Given the description of an element on the screen output the (x, y) to click on. 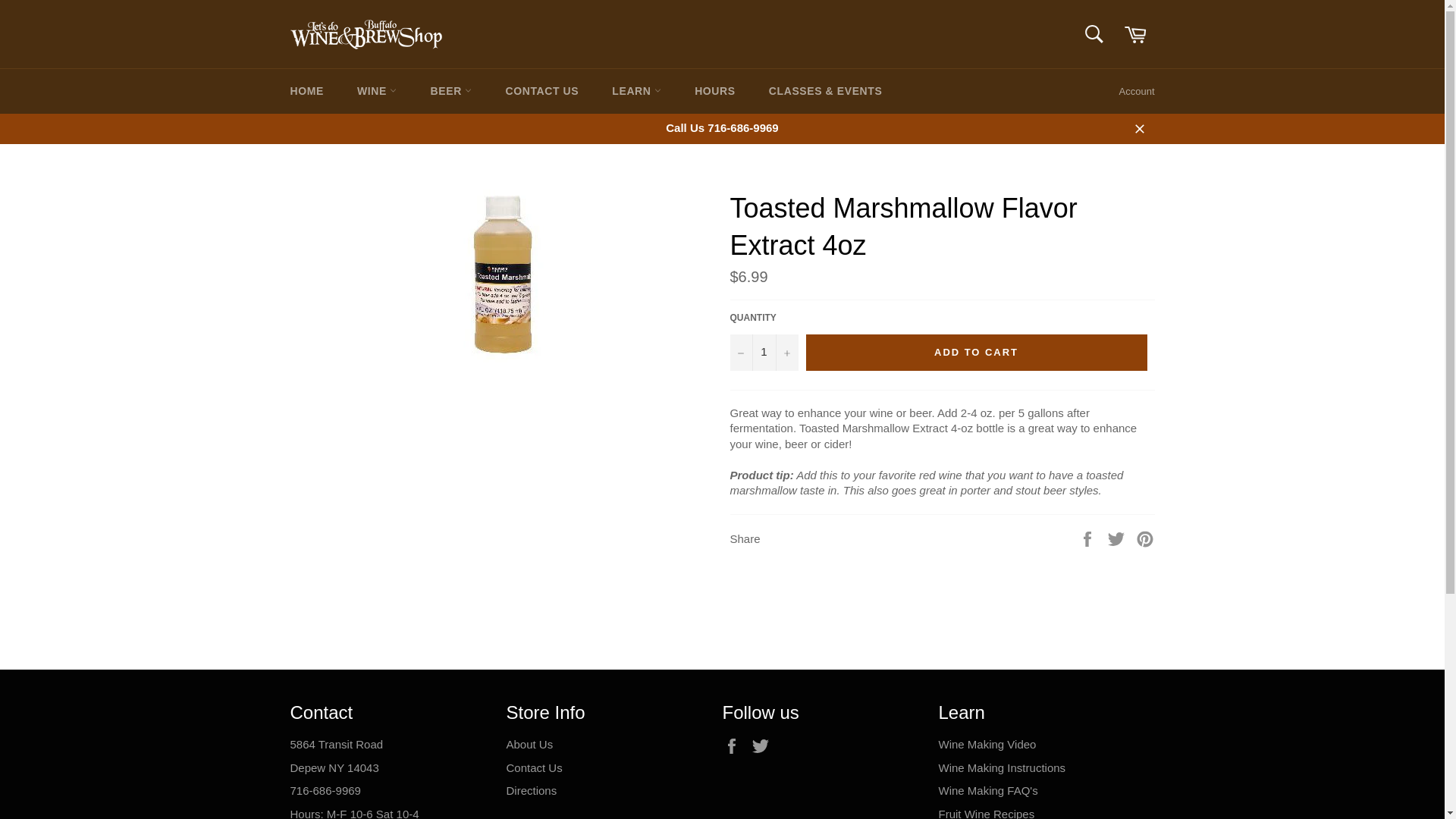
Tweet on Twitter (1117, 537)
Share on Facebook (1088, 537)
1 (763, 352)
Pin on Pinterest (1144, 537)
